Given the description of an element on the screen output the (x, y) to click on. 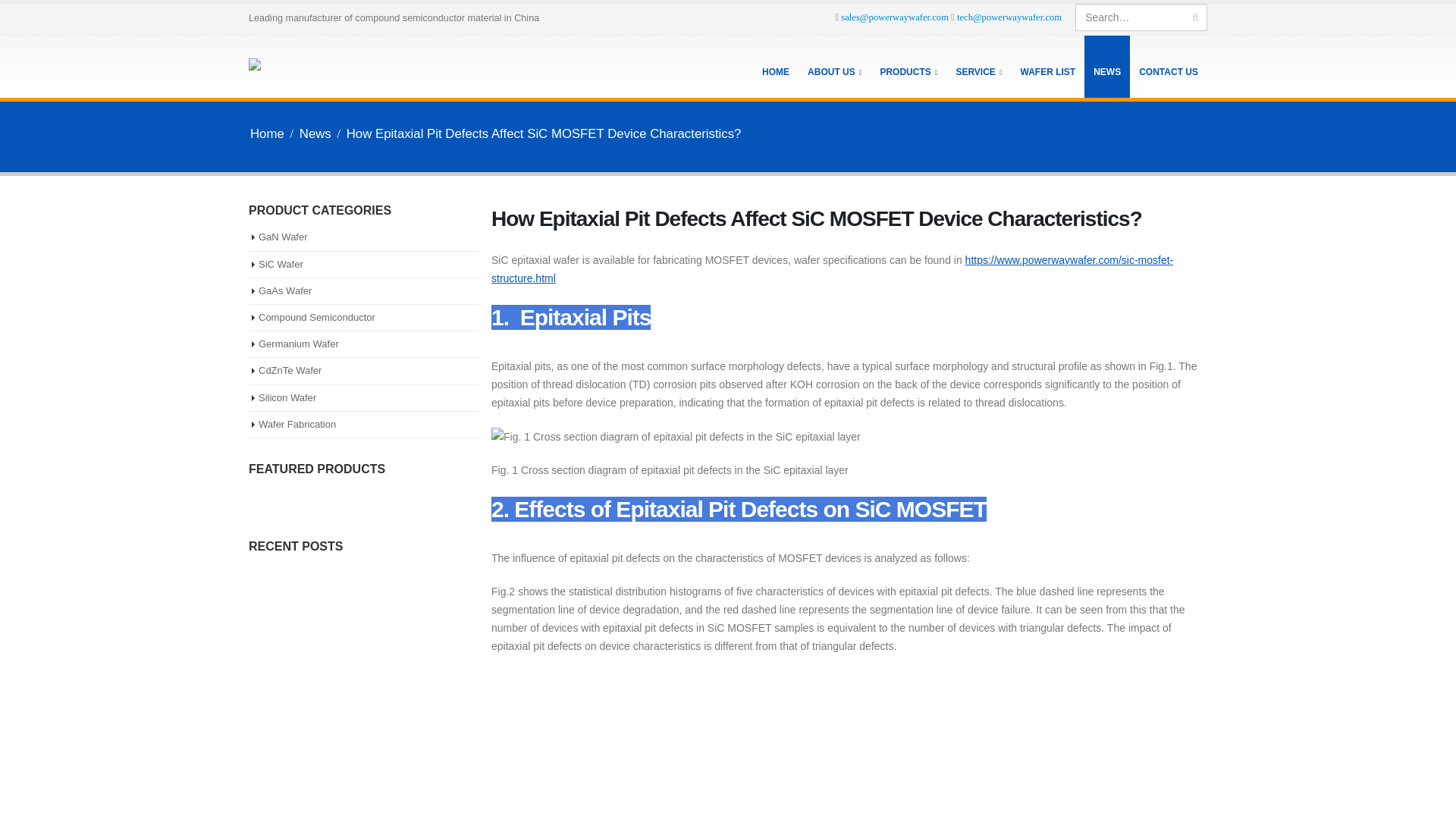
PRODUCTS (908, 66)
Search (1195, 17)
ABOUT US (833, 66)
HOME (774, 66)
XIAMEN POWERWAY -  (308, 66)
